Given the description of an element on the screen output the (x, y) to click on. 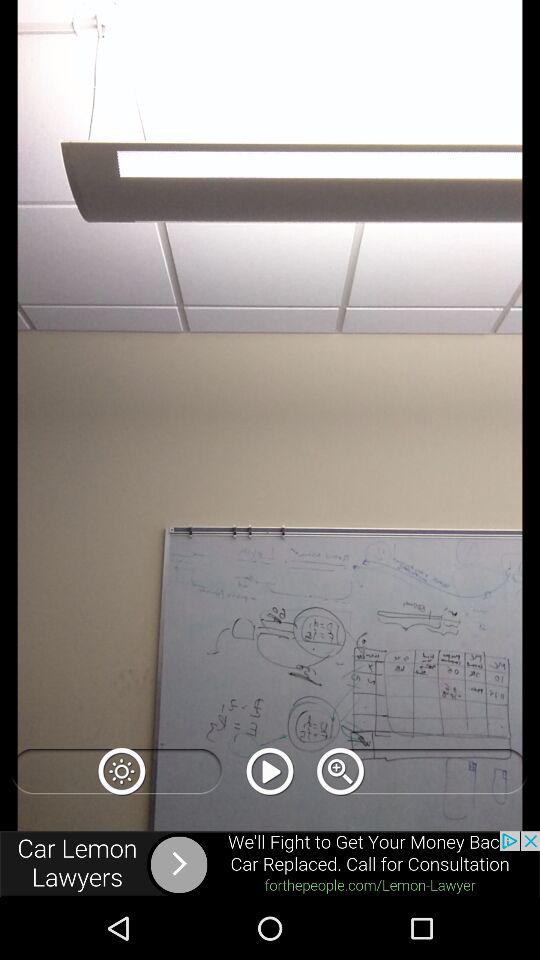
play (269, 771)
